Given the description of an element on the screen output the (x, y) to click on. 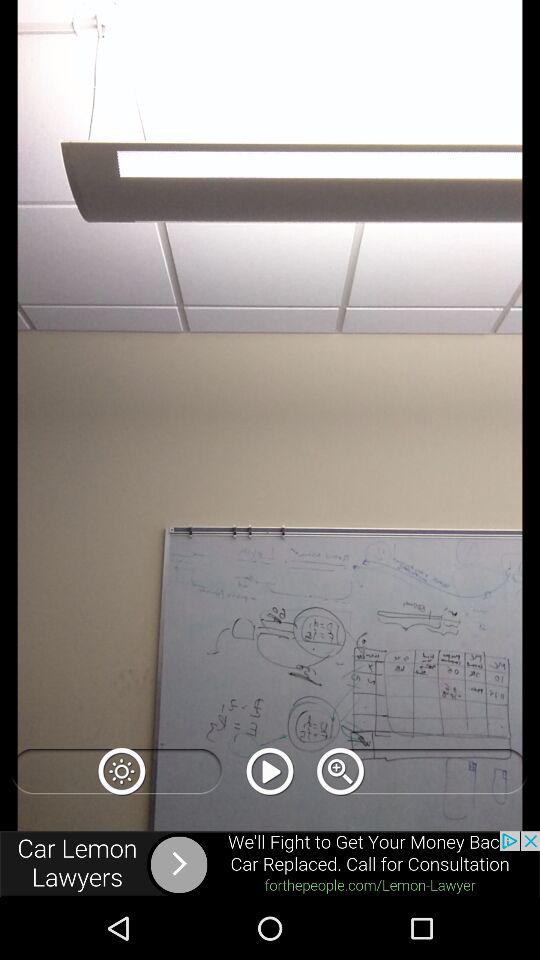
play (269, 771)
